Given the description of an element on the screen output the (x, y) to click on. 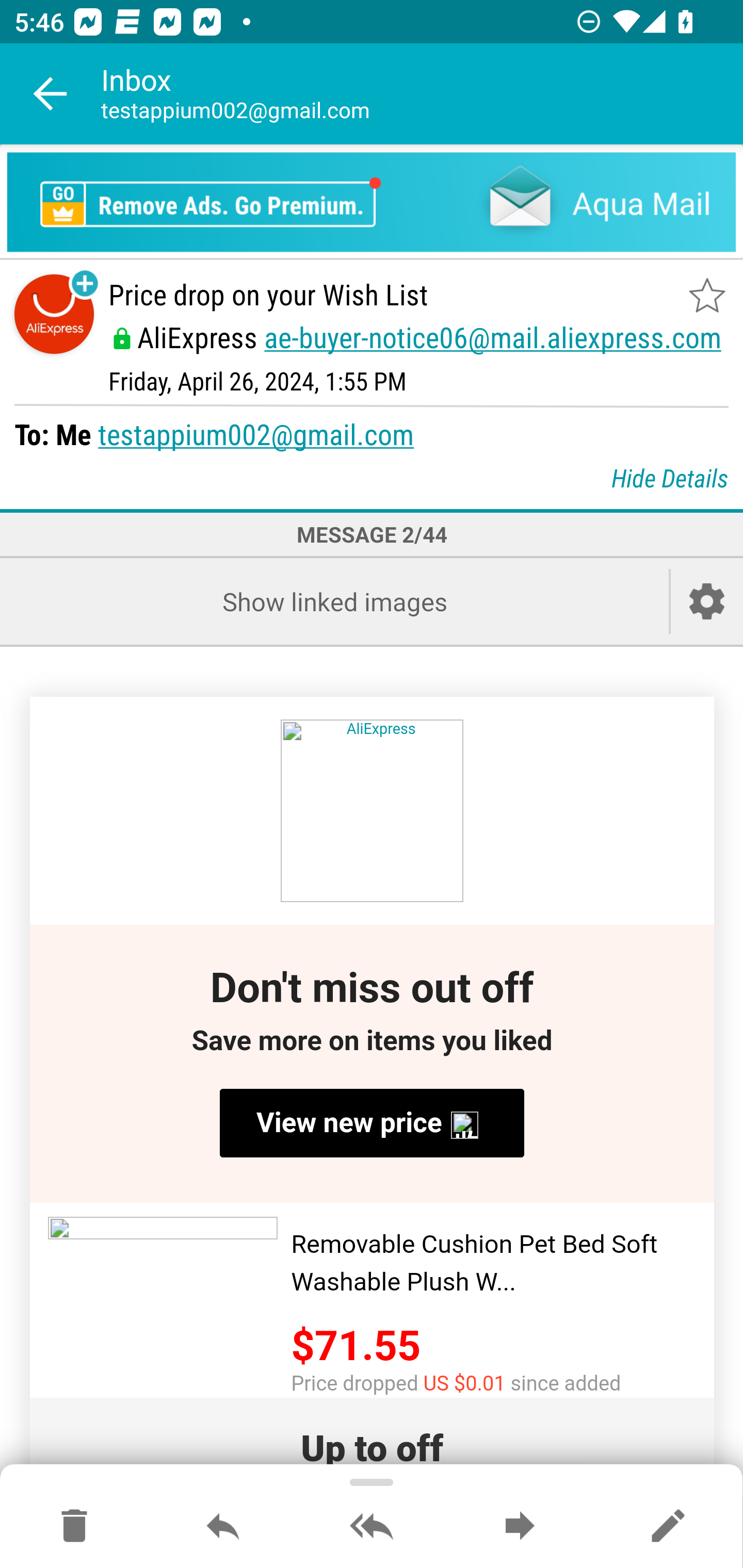
Navigate up (50, 93)
Inbox testappium002@gmail.com (422, 93)
Sender contact button (53, 314)
Show linked images (334, 601)
Account setup (706, 601)
Move to Deleted (74, 1527)
Reply (222, 1527)
Reply all (371, 1527)
Forward (519, 1527)
Reply as new (667, 1527)
